Given the description of an element on the screen output the (x, y) to click on. 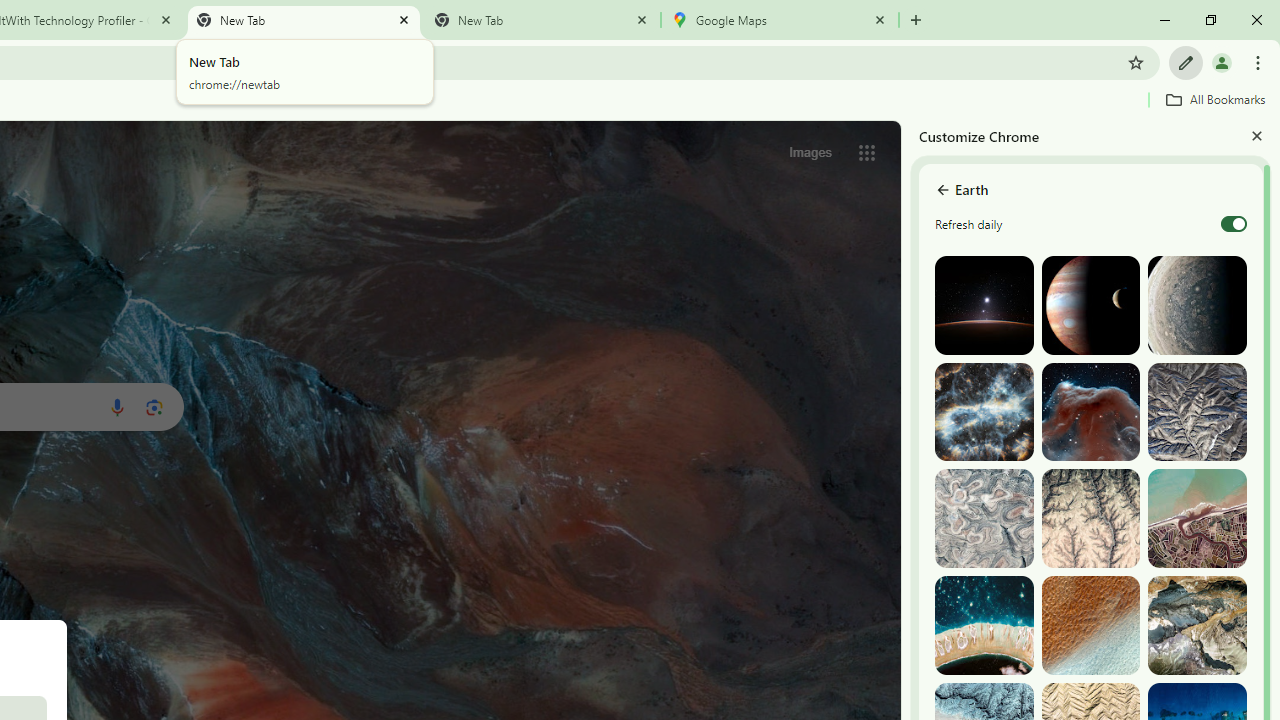
New Tab (541, 20)
Refresh daily (1233, 223)
Trarza, Mauritania (1090, 625)
Zermatt, Wallis, Switzerland (1197, 625)
Nanggroe Aceh Darussalam, Indonesia (1197, 518)
